Given the description of an element on the screen output the (x, y) to click on. 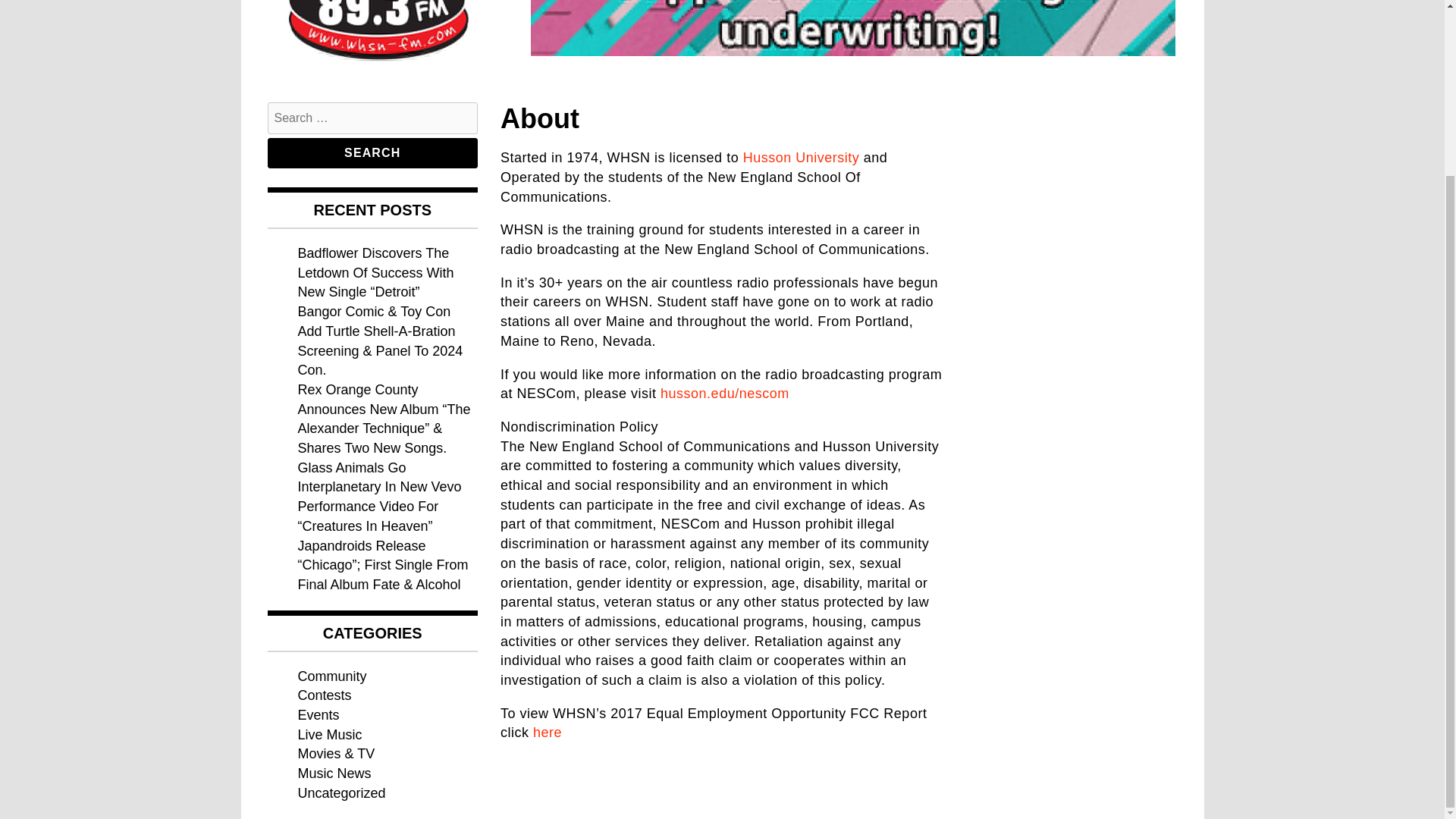
Community (331, 676)
underwritingbanner (852, 28)
WHSN (309, 89)
Contests (323, 694)
Events (318, 714)
Search (371, 153)
Search (371, 153)
Live Music (329, 734)
Husson University (801, 157)
Search (371, 153)
here (547, 732)
